Given the description of an element on the screen output the (x, y) to click on. 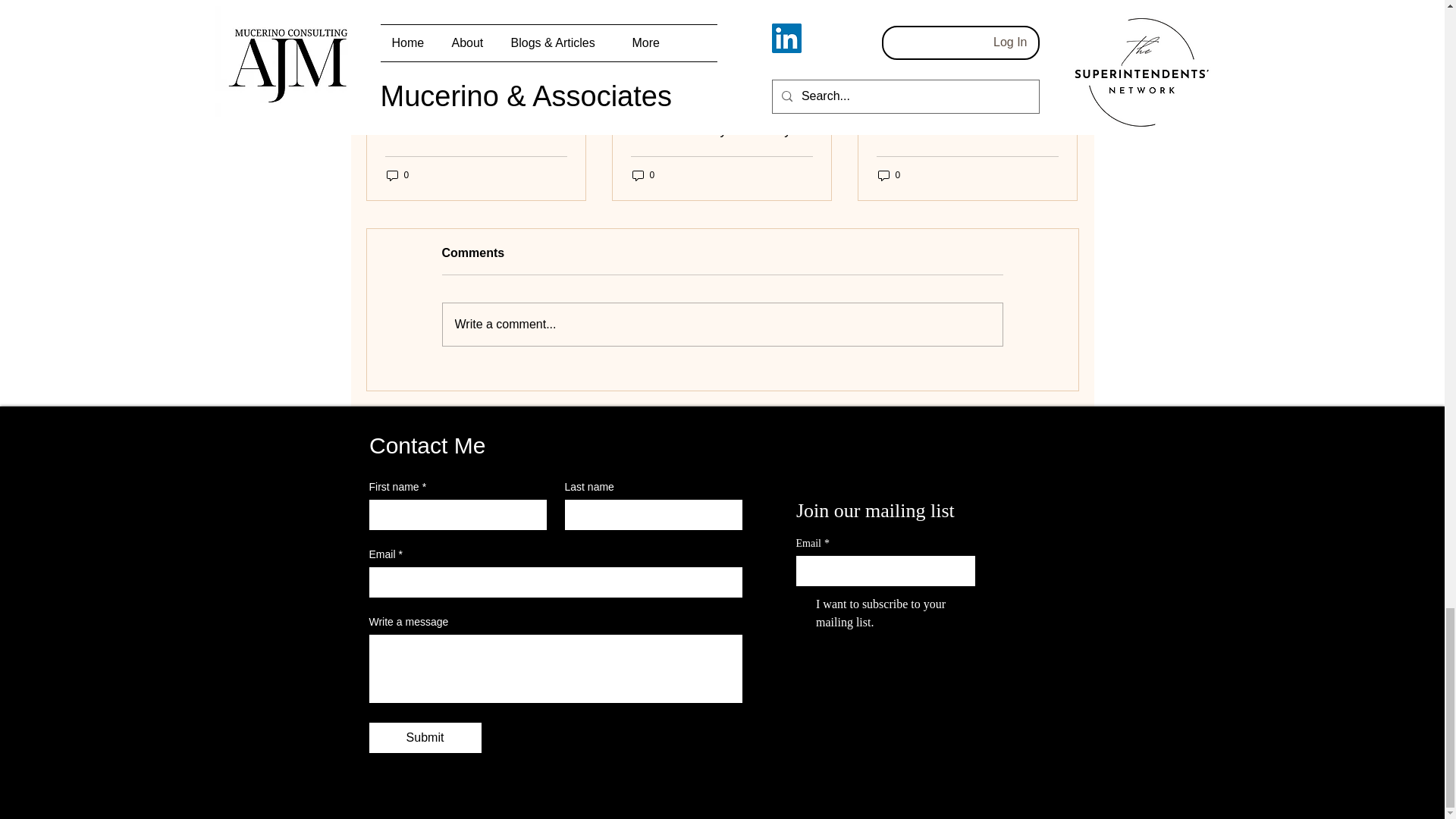
ROLE CONFLICT AND STUDENT SUCCESS (476, 122)
0 (397, 175)
